Given the description of an element on the screen output the (x, y) to click on. 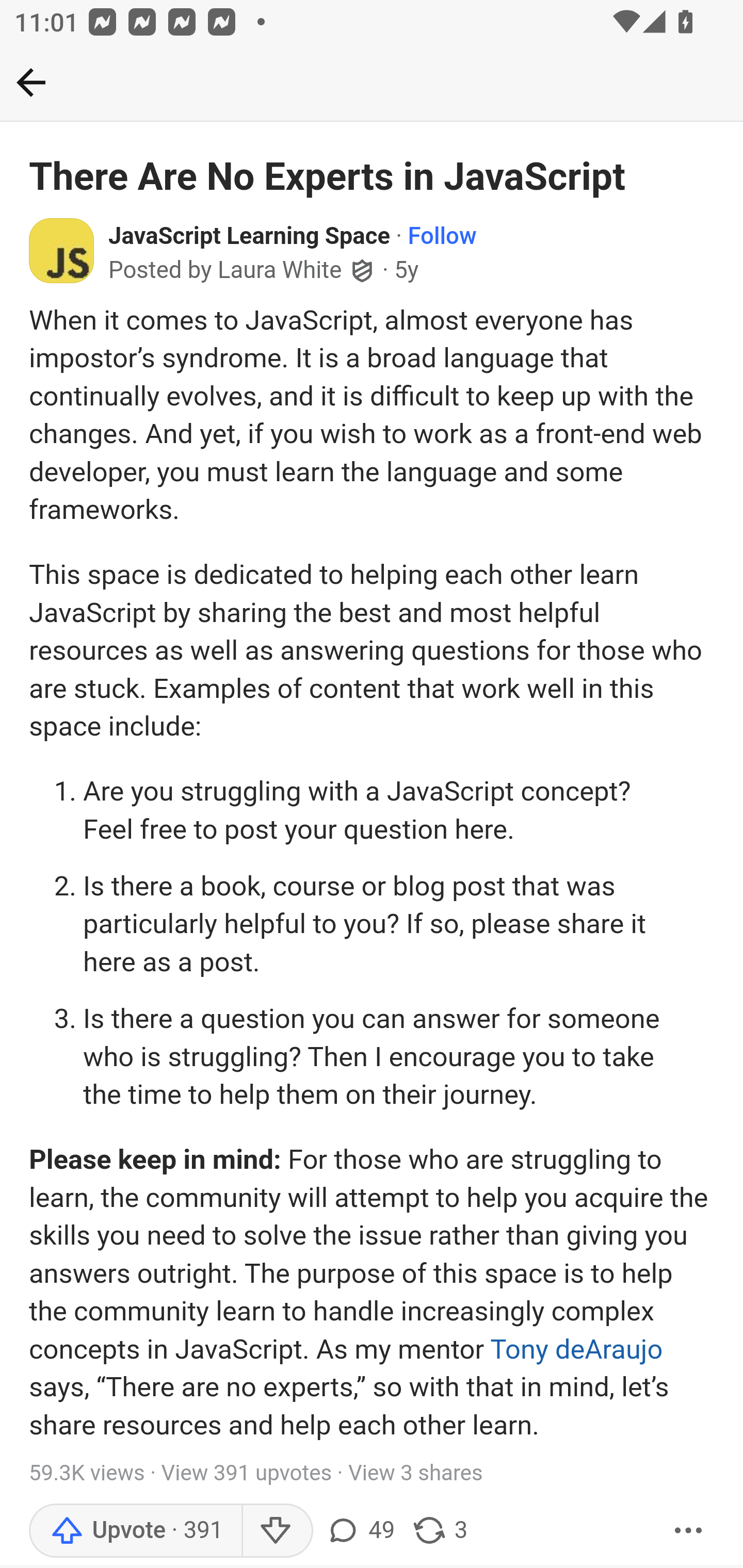
Back (371, 82)
Back (30, 82)
Icon for JavaScript Learning Space (61, 249)
JavaScript Learning Space (249, 237)
Follow (441, 237)
Laura White (279, 271)
5y 5 y (406, 270)
Tony deAraujo (576, 1348)
View 391 upvotes (246, 1473)
View 3 shares (414, 1473)
Upvote Downvote (174, 1530)
Upvote (135, 1530)
Downvote (277, 1530)
49 comments (360, 1530)
3 shares (439, 1530)
More (688, 1530)
